Given the description of an element on the screen output the (x, y) to click on. 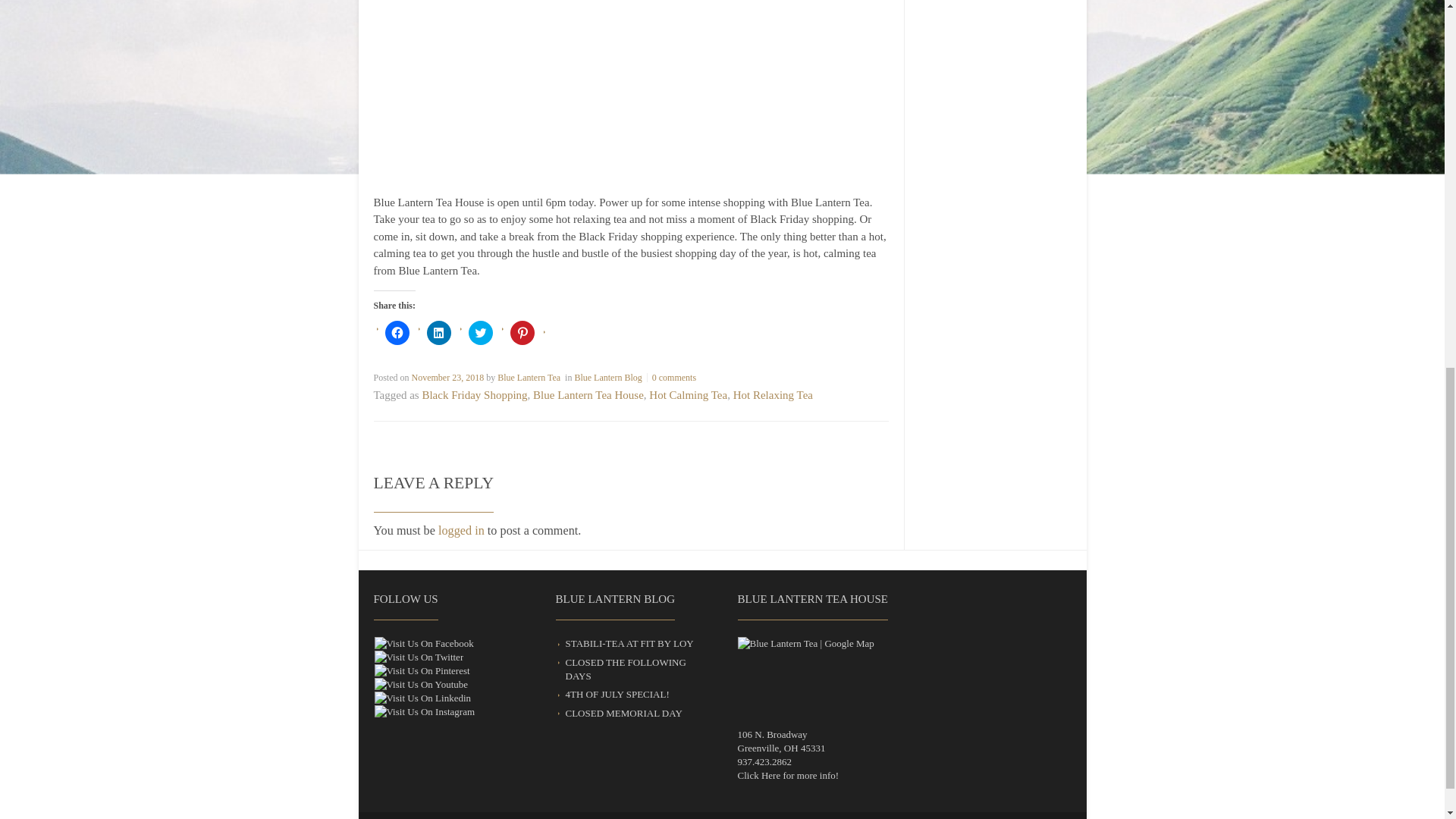
Blue Lantern Tea (528, 377)
Blue Lantern Blog (607, 377)
Click to share on Twitter (480, 332)
Visit Us On Twitter (417, 656)
Visit Us On Linkedin (421, 697)
Visit Us On Youtube (419, 684)
Click to share on Facebook (397, 332)
View post comments (673, 377)
Visit Us On Pinterest (420, 670)
Black Friday Shopping (474, 395)
Click to share on Pinterest (521, 332)
November 23, 2018 (448, 377)
Click to share on LinkedIn (437, 332)
Visit Us On Facebook (422, 643)
Blue Lantern Tea House (587, 395)
